Given the description of an element on the screen output the (x, y) to click on. 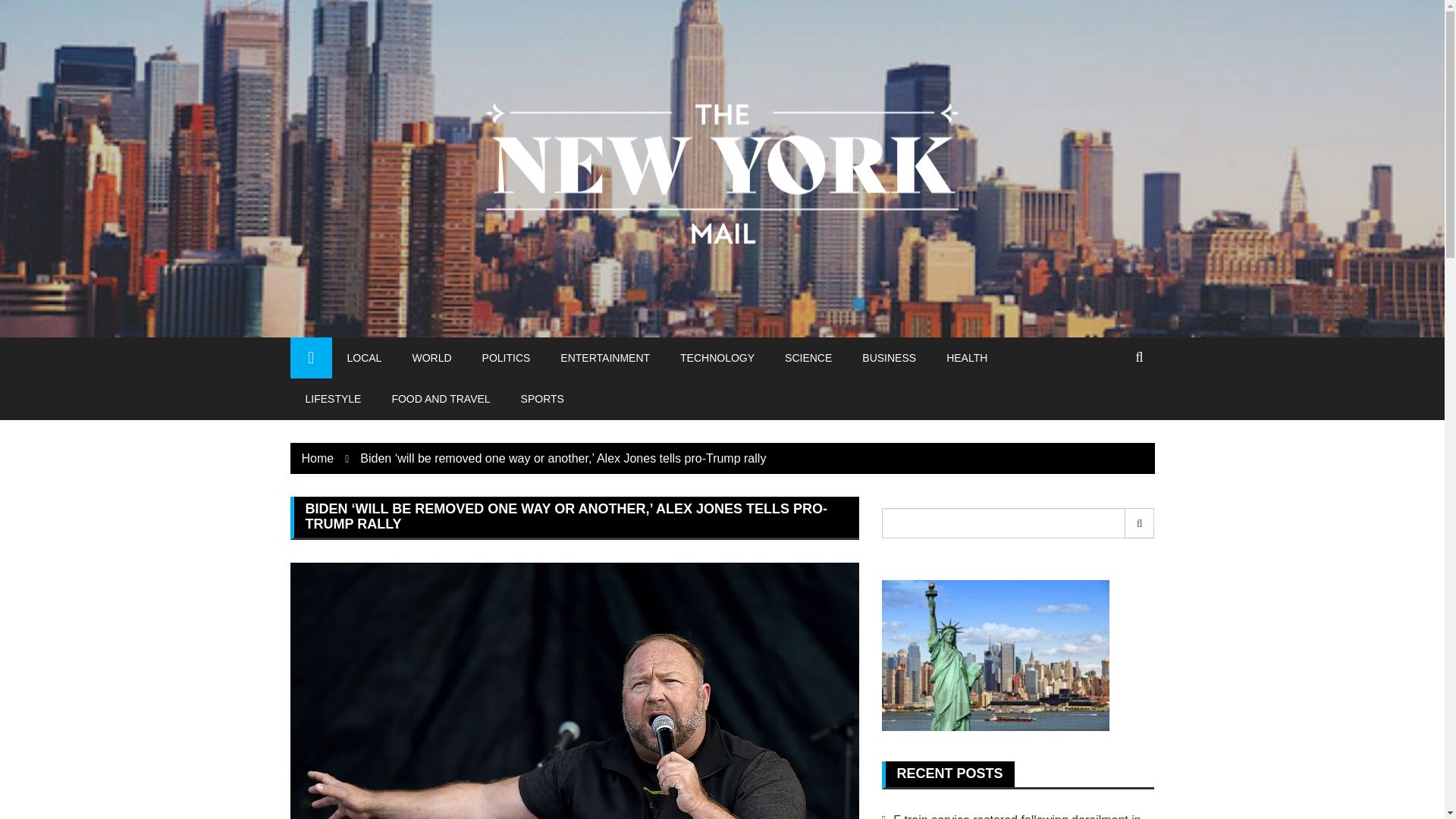
ENTERTAINMENT (604, 357)
BUSINESS (889, 357)
LIFESTYLE (332, 398)
Home (317, 458)
HEALTH (967, 357)
FOOD AND TRAVEL (440, 398)
SCIENCE (808, 357)
Search (1139, 522)
WORLD (430, 357)
POLITICS (506, 357)
TECHNOLOGY (717, 357)
LOCAL (364, 357)
SPORTS (542, 398)
